Given the description of an element on the screen output the (x, y) to click on. 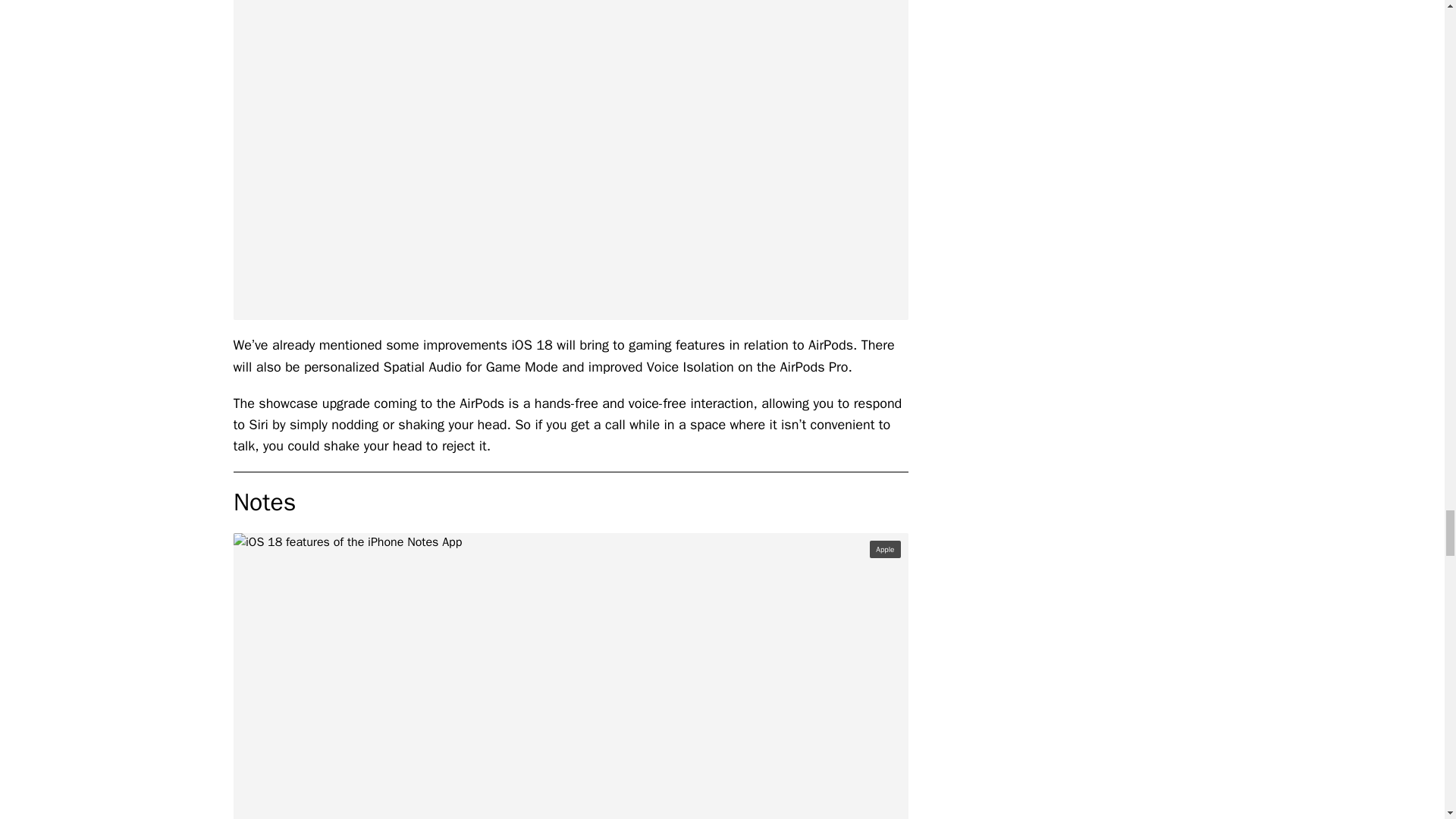
Apple (884, 548)
